Given the description of an element on the screen output the (x, y) to click on. 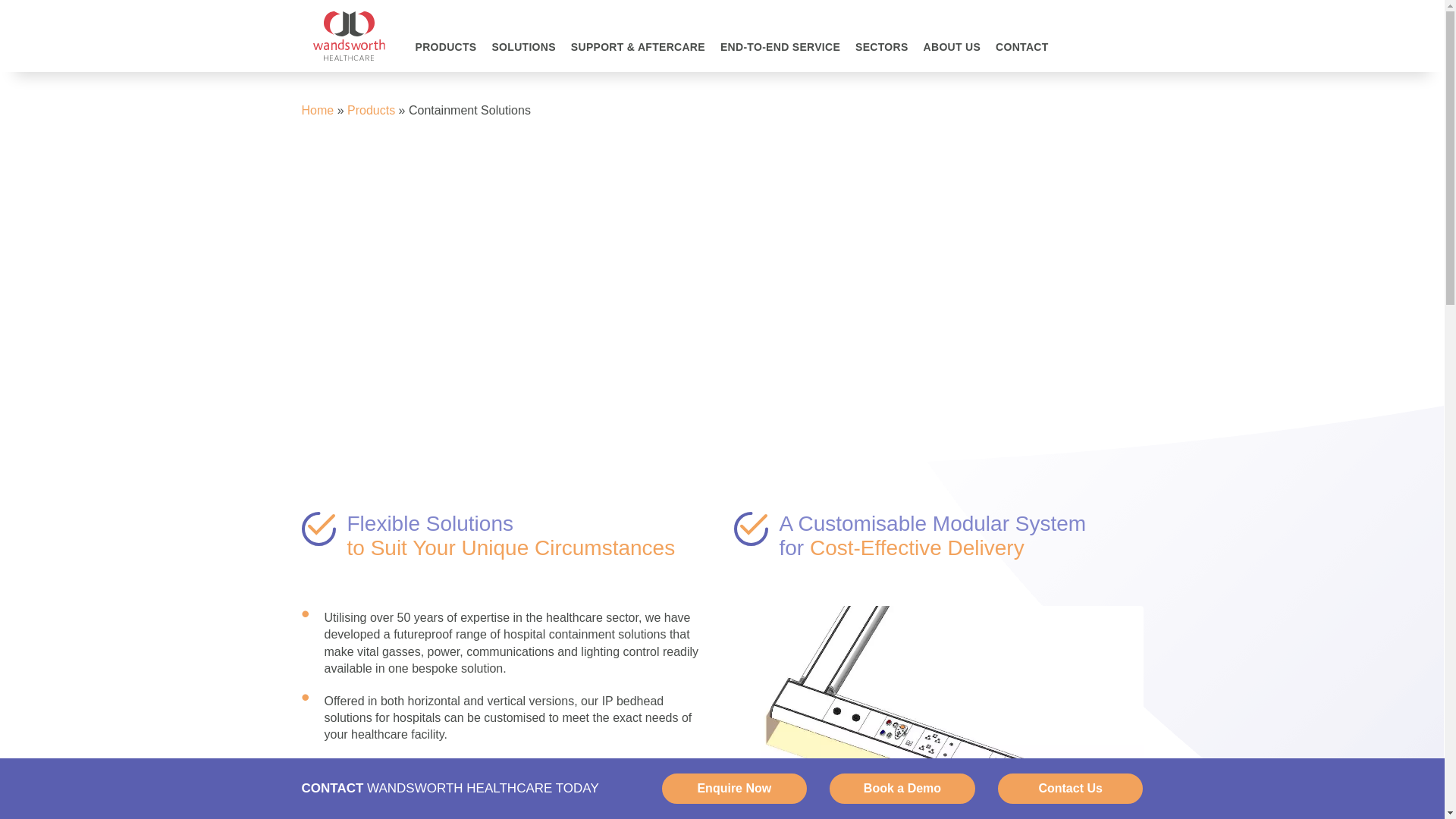
SOLUTIONS (522, 56)
END-TO-END SERVICE (780, 56)
SECTORS (881, 56)
PRODUCTS (445, 56)
